Given the description of an element on the screen output the (x, y) to click on. 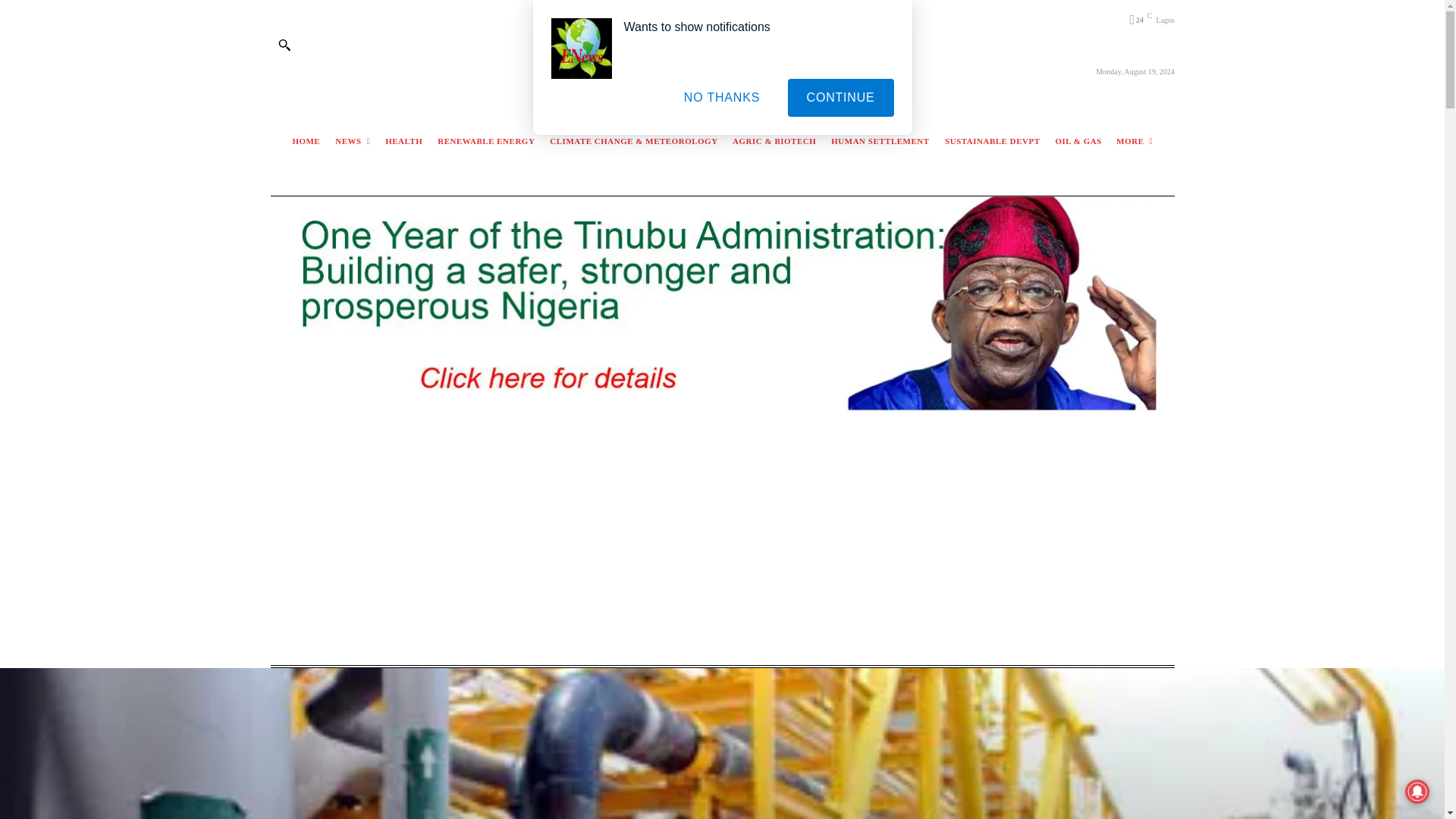
HOME (305, 140)
NEWS (352, 140)
